Given the description of an element on the screen output the (x, y) to click on. 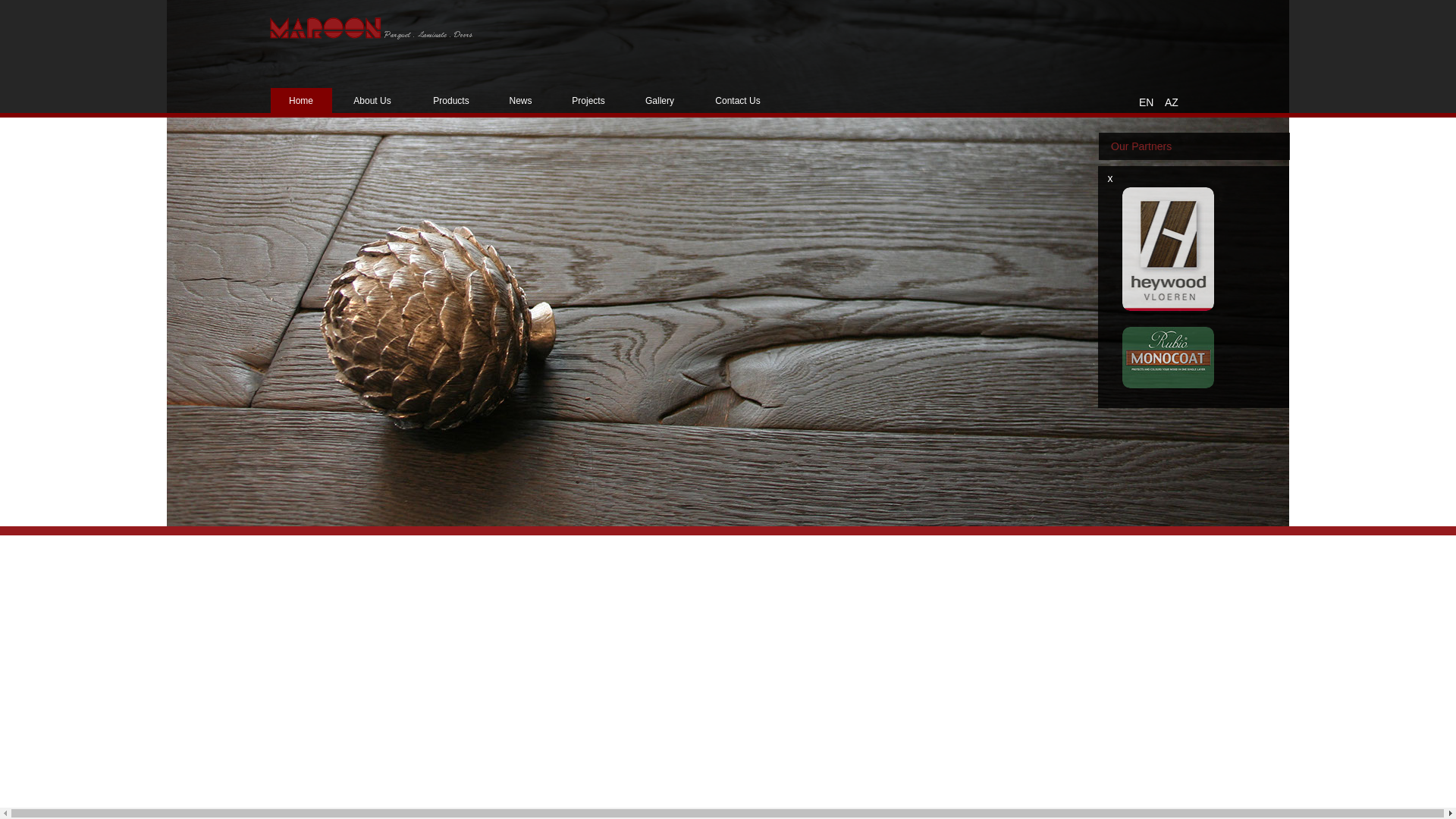
Gallery Element type: text (659, 100)
Products Element type: text (451, 100)
News Element type: text (520, 100)
Projects Element type: text (588, 100)
About Us Element type: text (372, 100)
Contact Us Element type: text (737, 100)
Home Element type: text (301, 100)
